Given the description of an element on the screen output the (x, y) to click on. 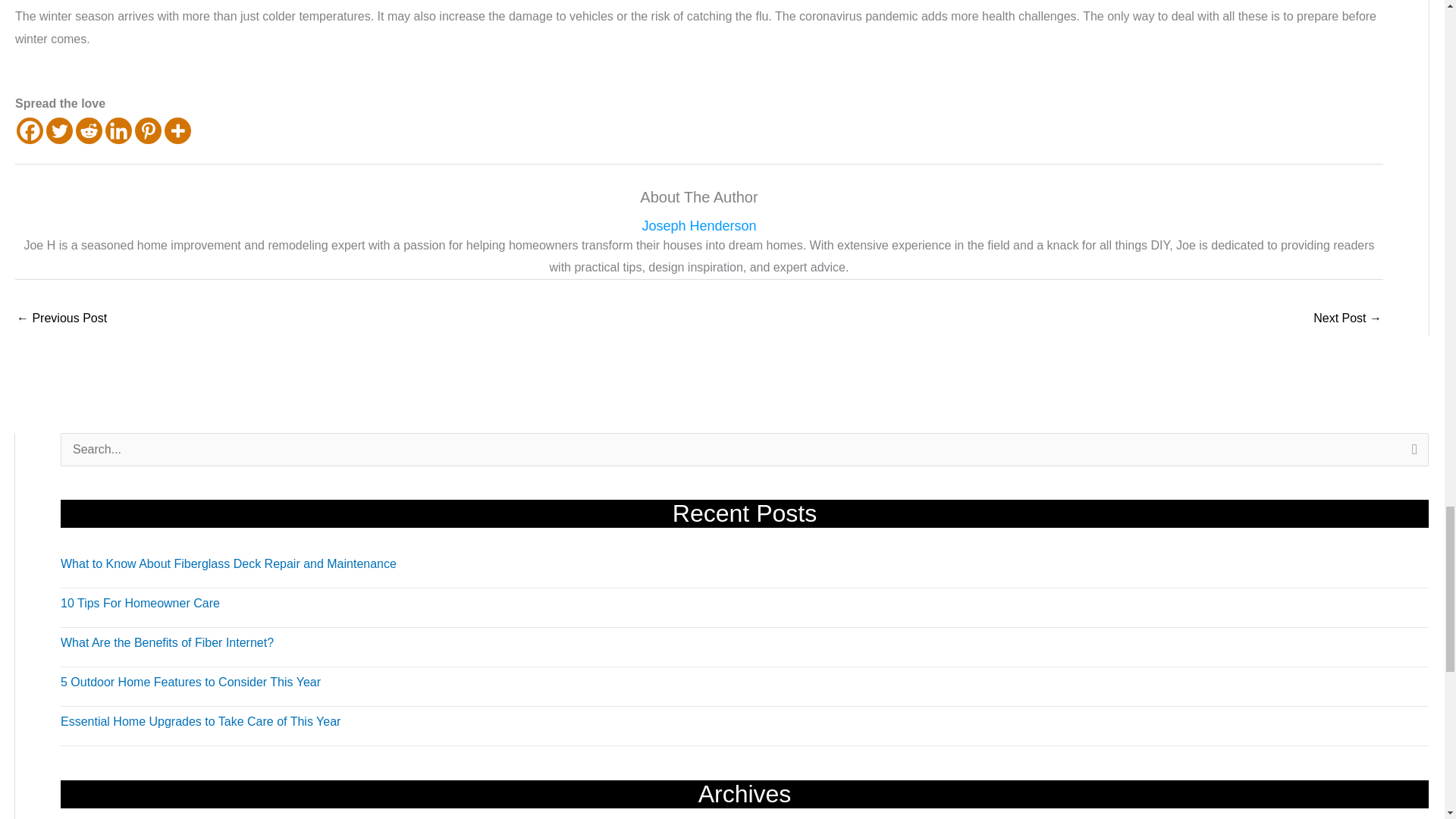
What Are the Benefits of Fiber Internet? (167, 642)
Facebook (29, 130)
Joseph Henderson (698, 226)
5 Outdoor Home Features to Consider This Year (190, 681)
Reddit (88, 130)
What to Know About Fiberglass Deck Repair and Maintenance (228, 563)
Search (1411, 454)
Search (1411, 454)
10 Tips For Homeowner Care (140, 603)
Search (1411, 454)
Twitter (59, 130)
Essential Home Upgrades to Take Care of This Year (200, 721)
